Given the description of an element on the screen output the (x, y) to click on. 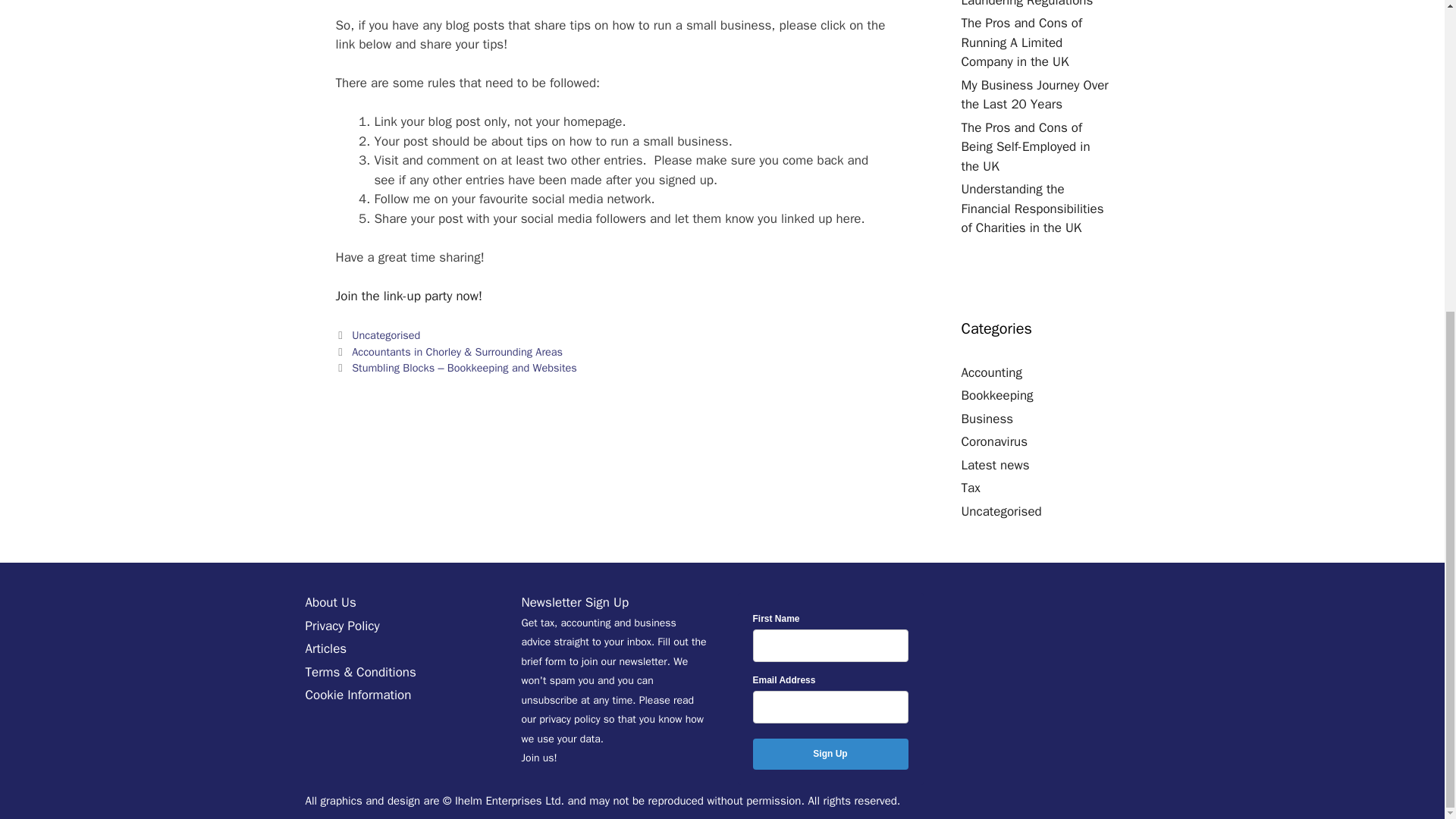
My Business Journey Over the Last 20 Years (1034, 94)
Business (986, 418)
Uncategorised (386, 335)
Cookie Information (357, 694)
Latest news (994, 465)
Bookkeeping (996, 395)
The Pros and Cons of Running A Limited Company in the UK (1021, 42)
Articles (325, 648)
Uncategorised (1001, 511)
